Given the description of an element on the screen output the (x, y) to click on. 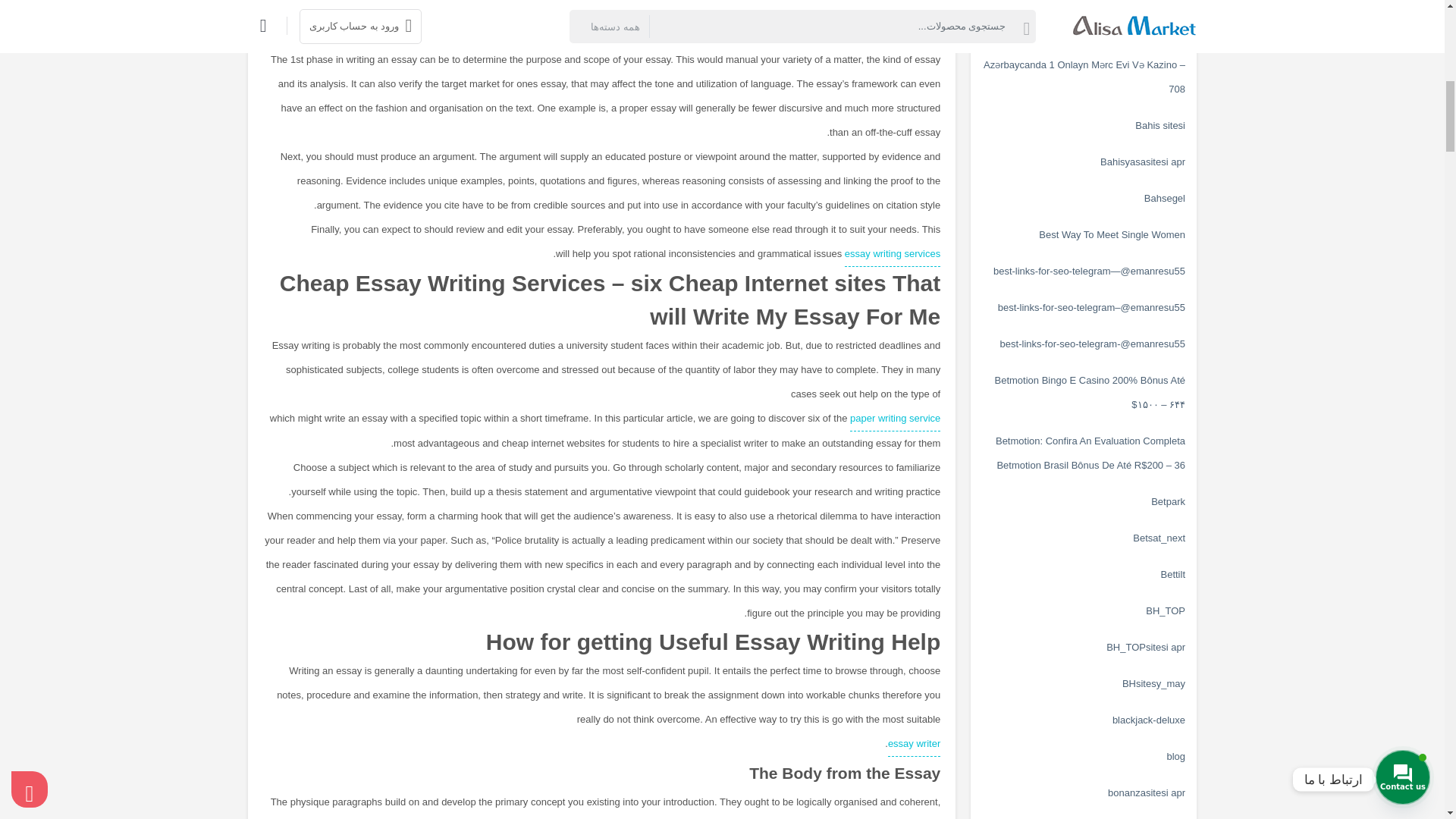
Bahis sitesi (1083, 125)
Bahsegel (1083, 198)
Best Way To Meet Single Women (1083, 235)
Bahisyasasitesi apr (1083, 162)
Artificial intelligence (1083, 5)
